Given the description of an element on the screen output the (x, y) to click on. 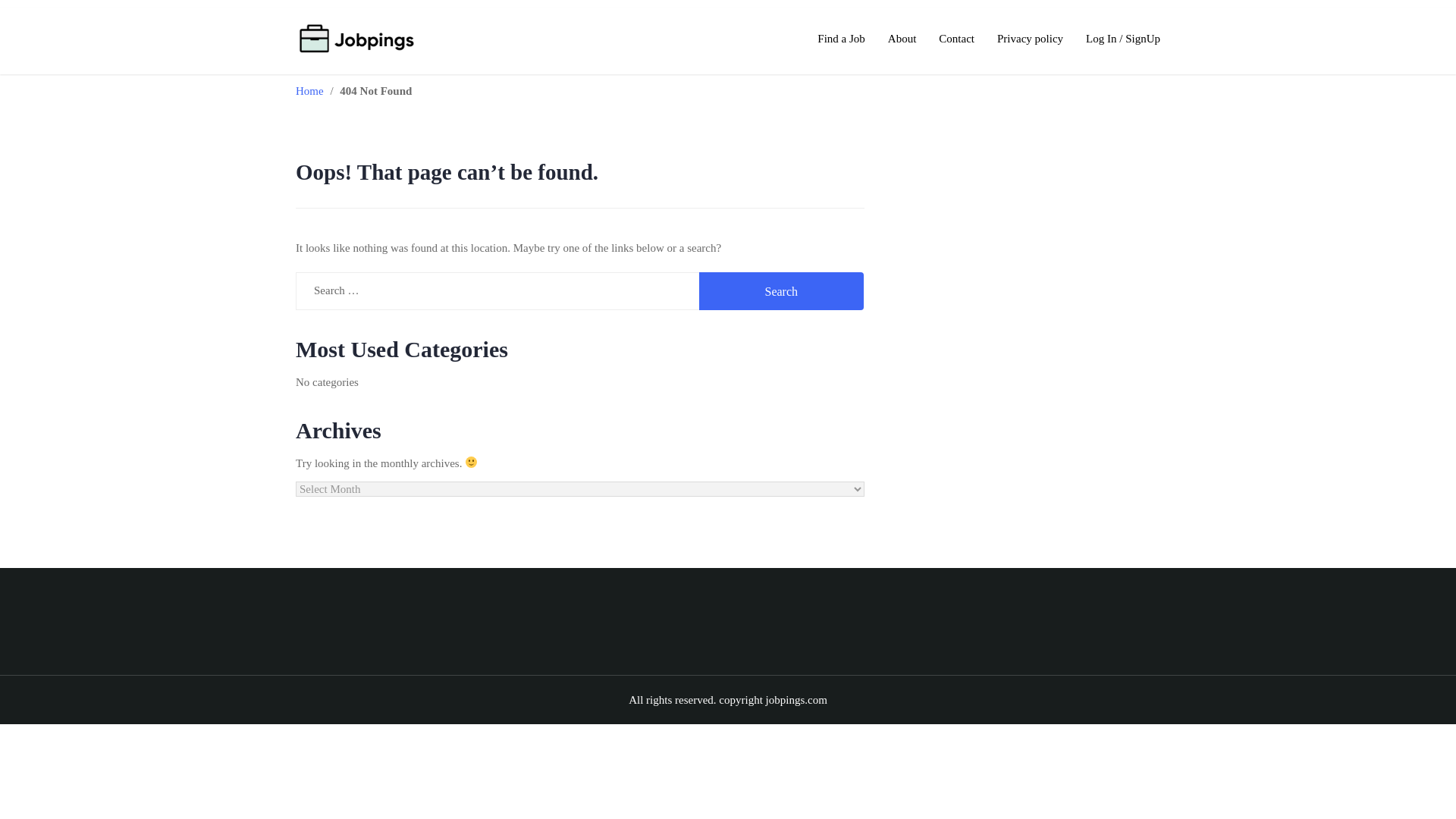
Search (781, 290)
Contact (956, 38)
Privacy policy (1029, 38)
About (902, 38)
Home (309, 91)
Privacy policy (1029, 38)
Search (781, 290)
Find a Job (841, 38)
About (902, 38)
Find a Job (841, 38)
